Given the description of an element on the screen output the (x, y) to click on. 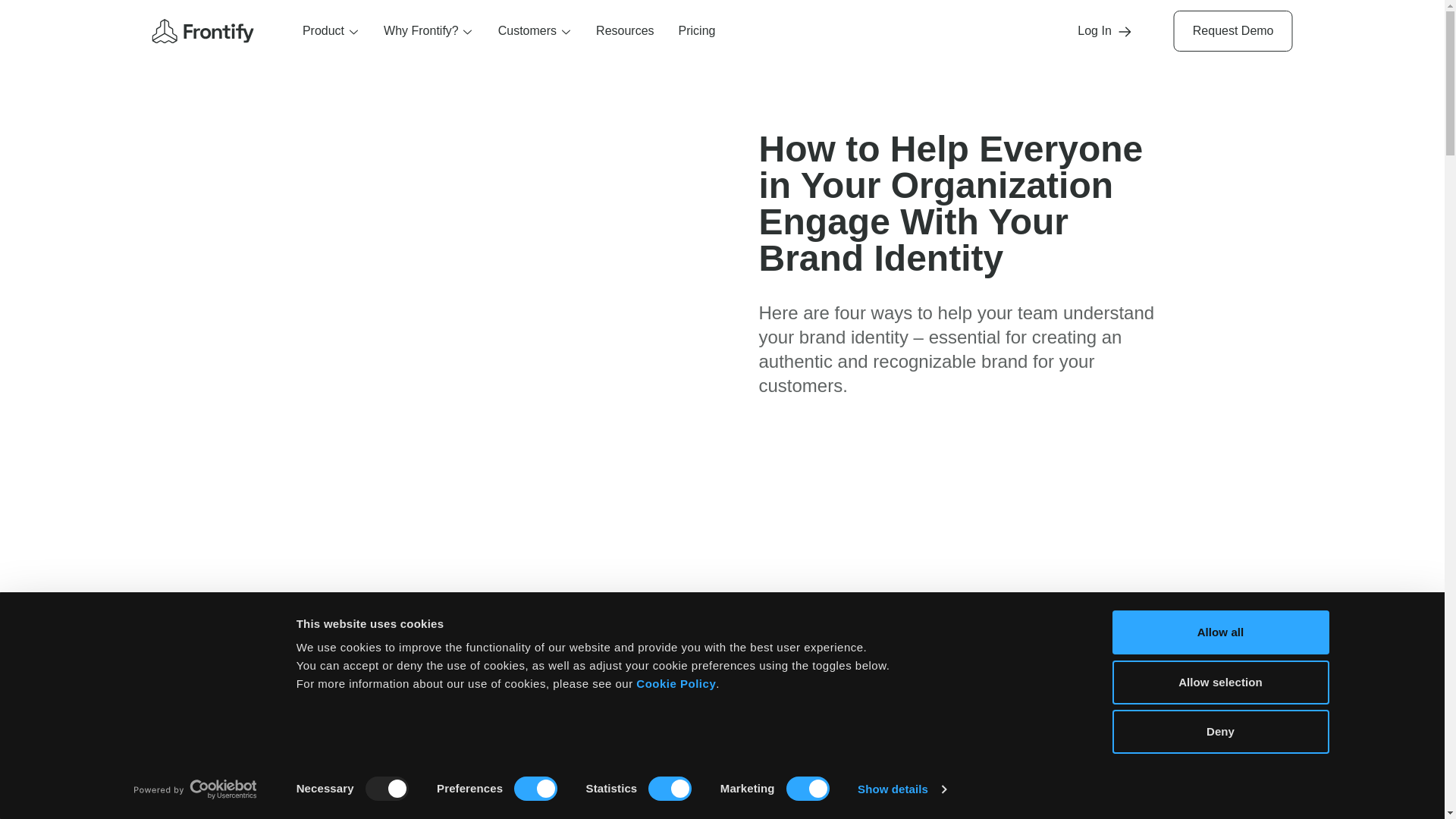
Cookie Policy (676, 683)
Show details (900, 789)
